Given the description of an element on the screen output the (x, y) to click on. 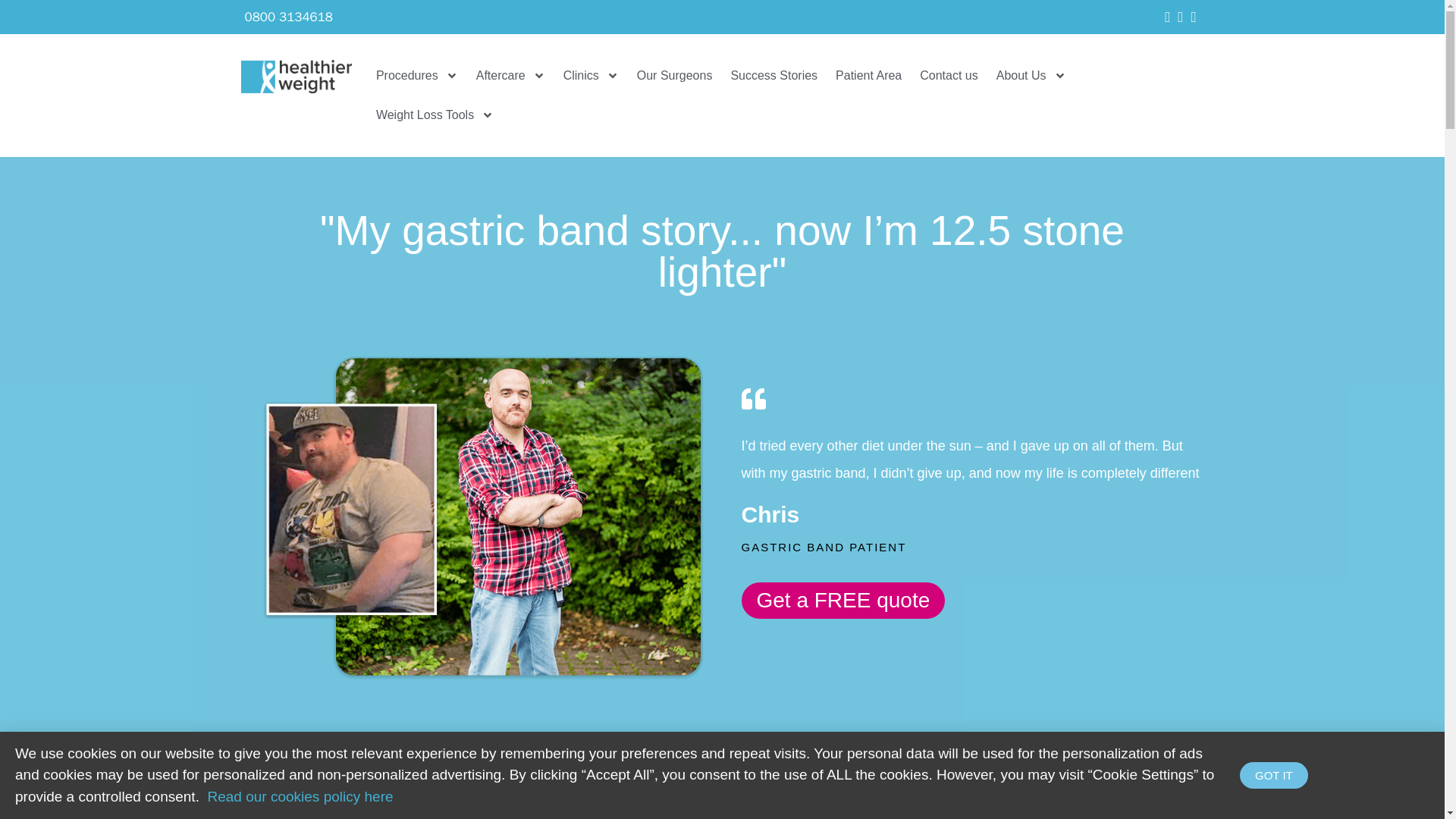
Procedures (416, 75)
0800 3134618 (287, 17)
Success Stories (773, 75)
Aftercare (510, 75)
Our Surgeons (674, 75)
About Us (1031, 75)
Contact us (949, 75)
Clinics (590, 75)
Weight Loss Tools (434, 115)
Patient Area (869, 75)
